Given the description of an element on the screen output the (x, y) to click on. 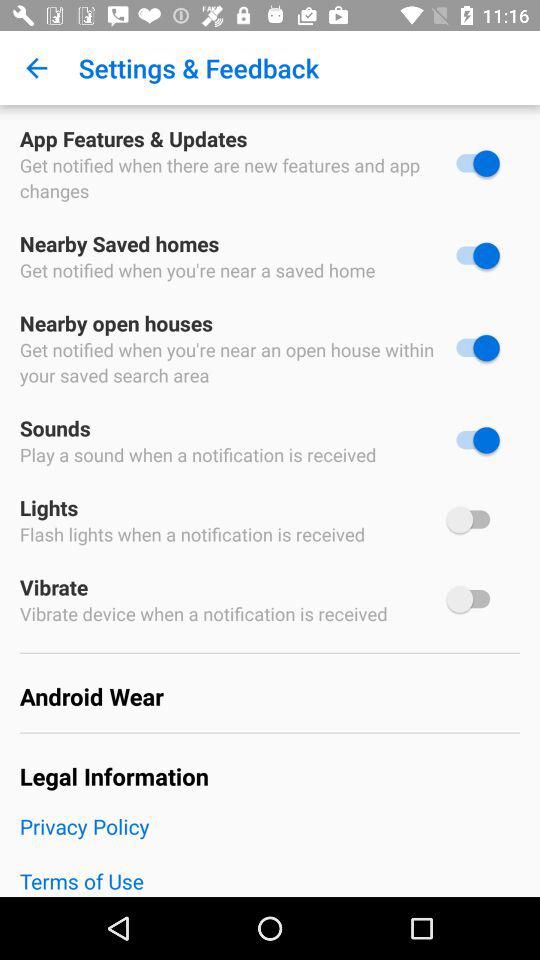
toggle sound (473, 440)
